Given the description of an element on the screen output the (x, y) to click on. 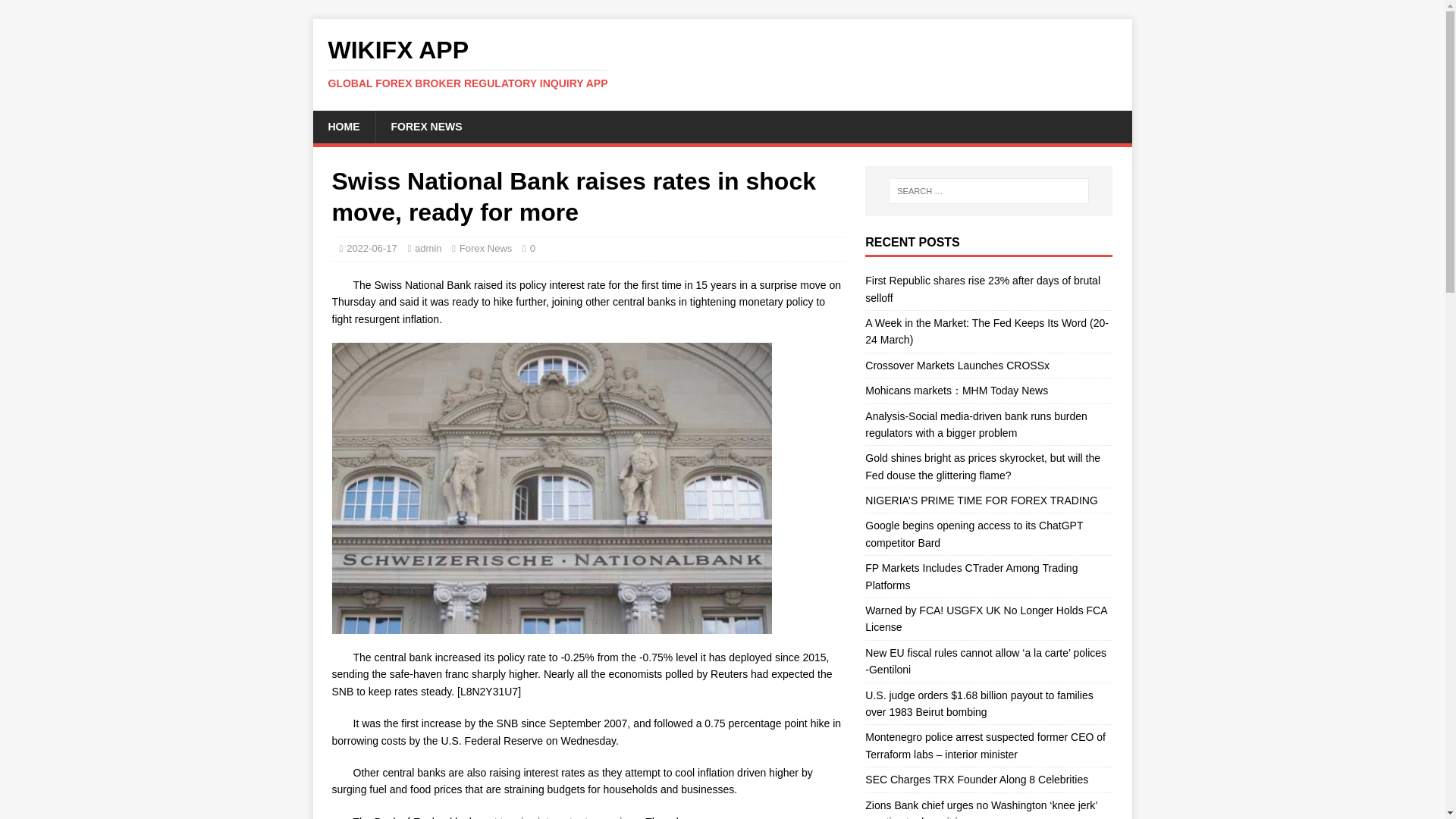
2022-06-17 (371, 247)
FOREX NEWS (425, 126)
HOME (343, 126)
Crossover Markets Launches CROSSx (956, 365)
FP Markets Includes CTrader Among Trading Platforms (970, 575)
Search (56, 11)
Forex News (486, 247)
SEC Charges TRX Founder Along 8 Celebrities (975, 779)
Warned by FCA! USGFX UK No Longer Holds FCA License (985, 618)
admin (427, 247)
WikiFX APP (721, 63)
Google begins opening access to its ChatGPT competitor Bard (973, 533)
